Given the description of an element on the screen output the (x, y) to click on. 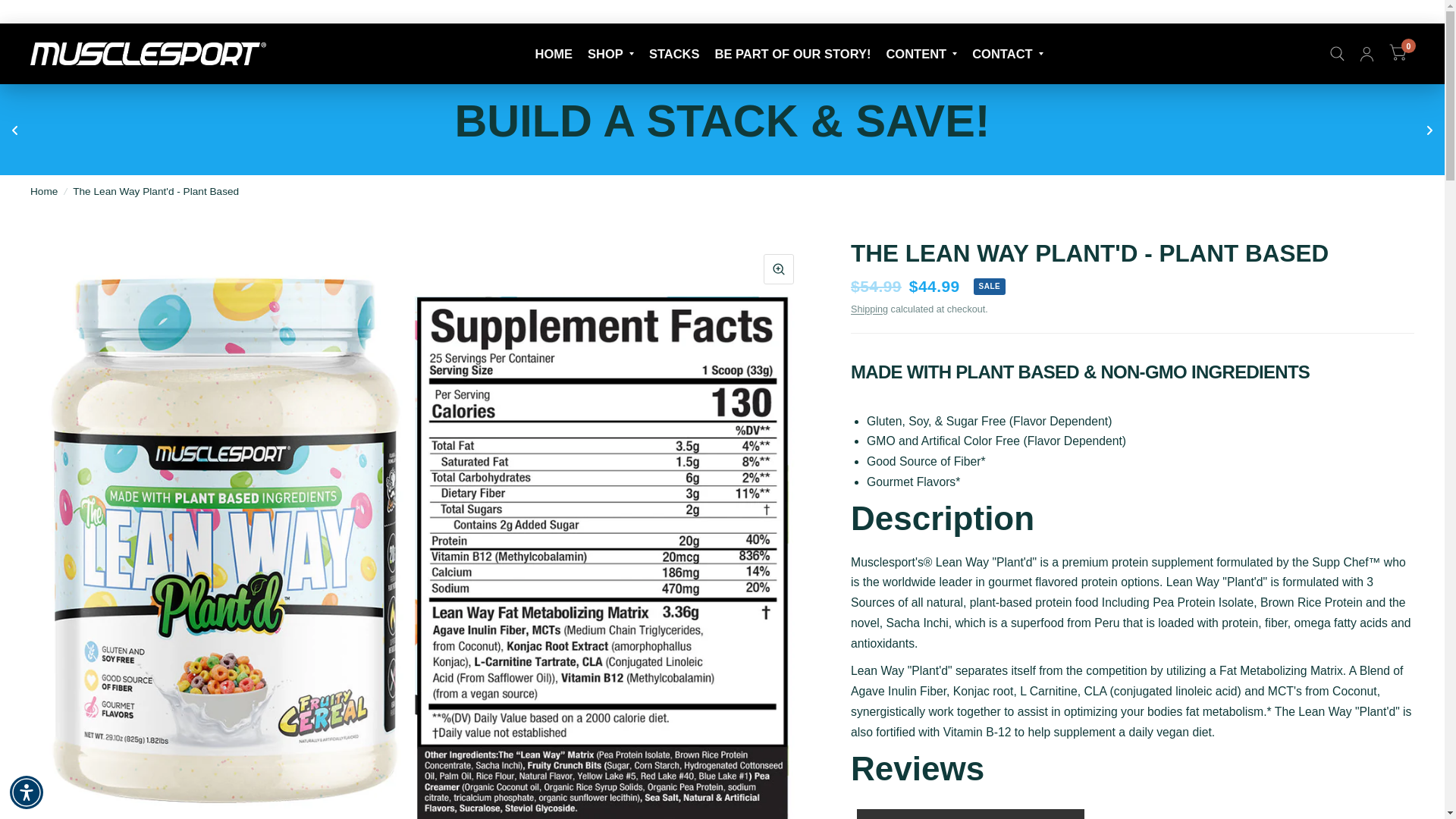
SHOP (610, 54)
Accessibility Menu (26, 792)
HOME (554, 54)
